Given the description of an element on the screen output the (x, y) to click on. 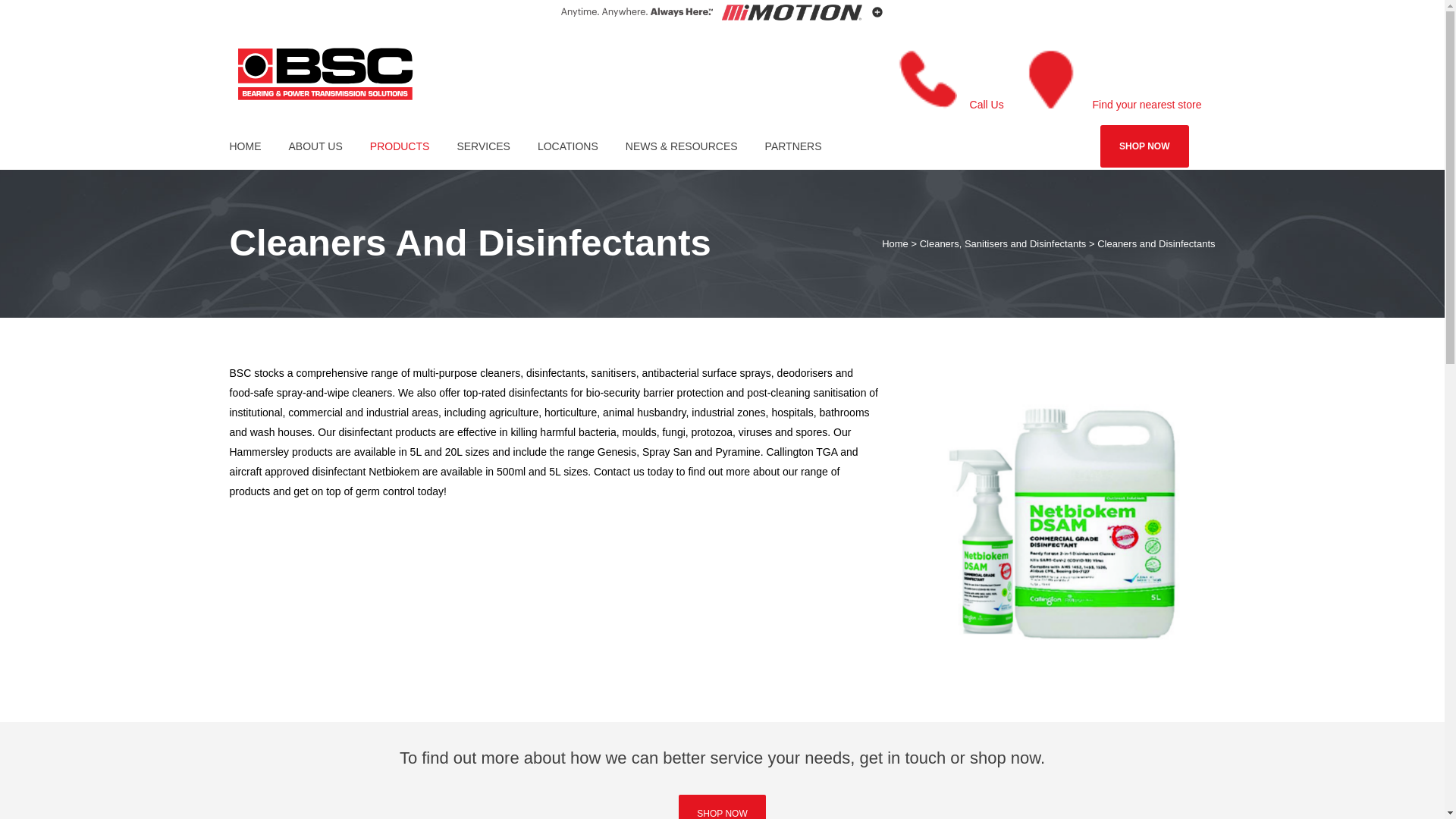
PRODUCTS (400, 145)
Find your nearest store (1147, 104)
HOME (251, 145)
Cleaners and Disenfectants (1057, 519)
ABOUT US (315, 145)
